Given the description of an element on the screen output the (x, y) to click on. 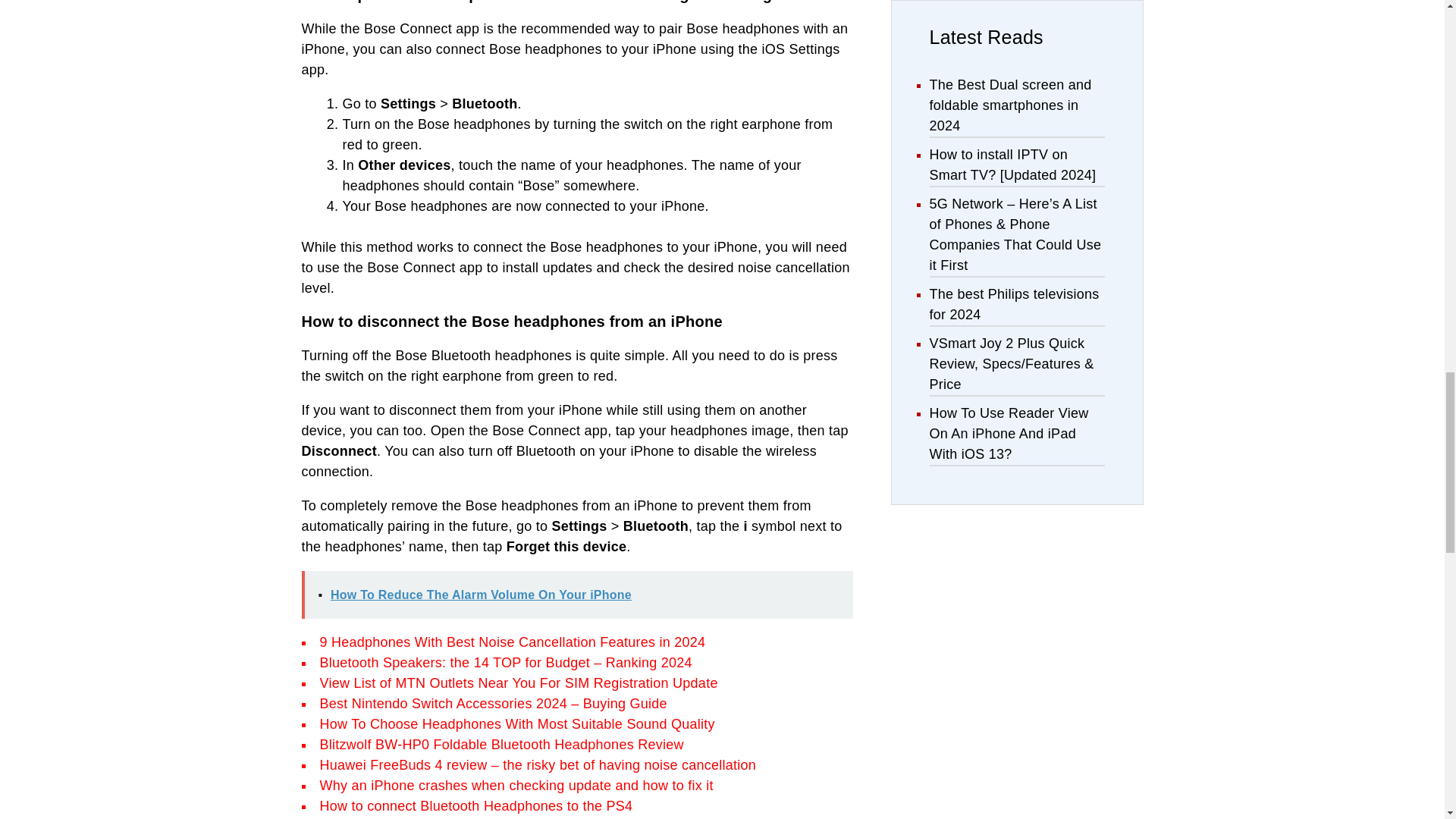
9 Headphones With Best Noise Cancellation Features in 2024 (513, 642)
